Given the description of an element on the screen output the (x, y) to click on. 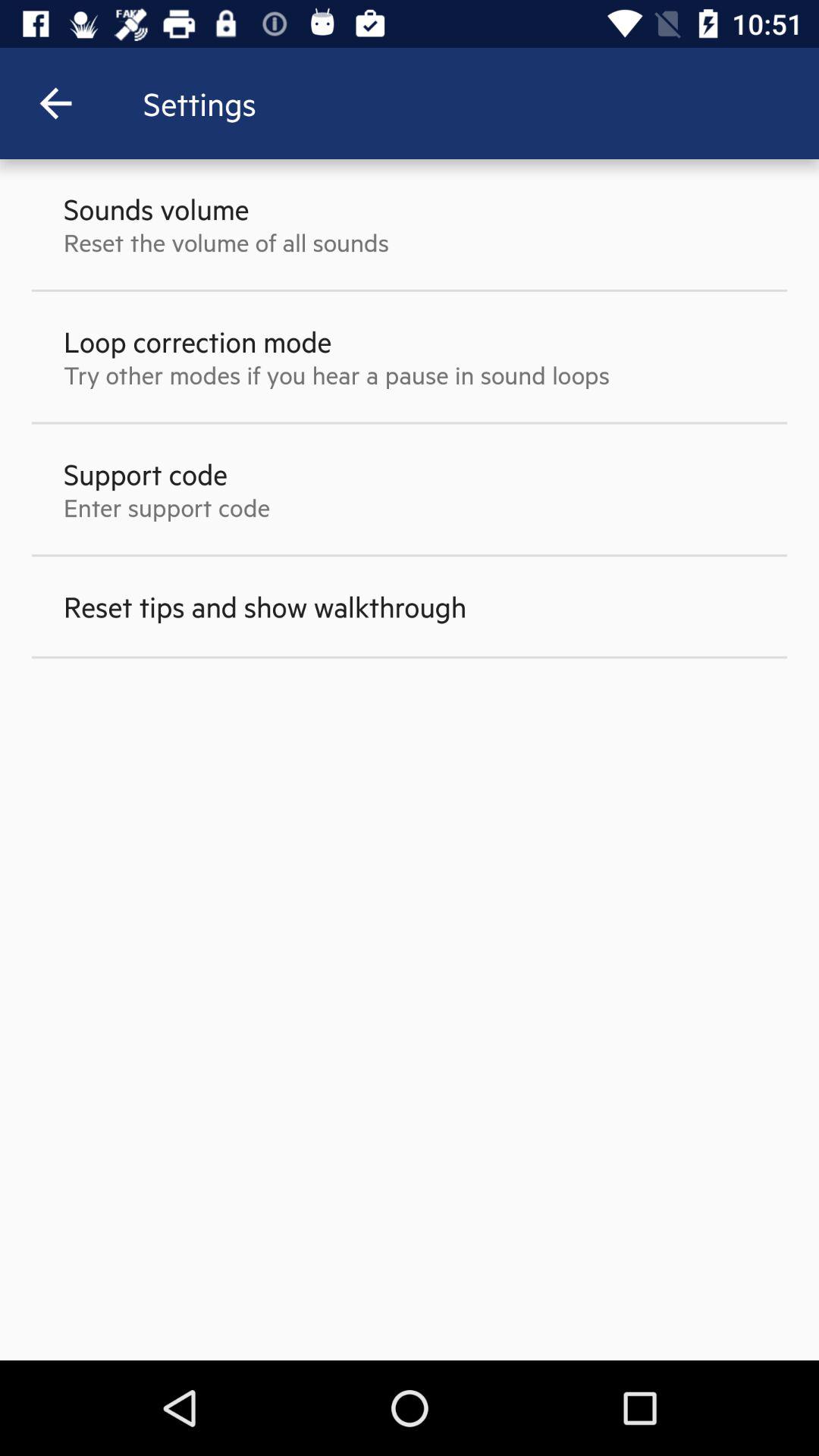
tap icon to the left of the settings icon (55, 103)
